Given the description of an element on the screen output the (x, y) to click on. 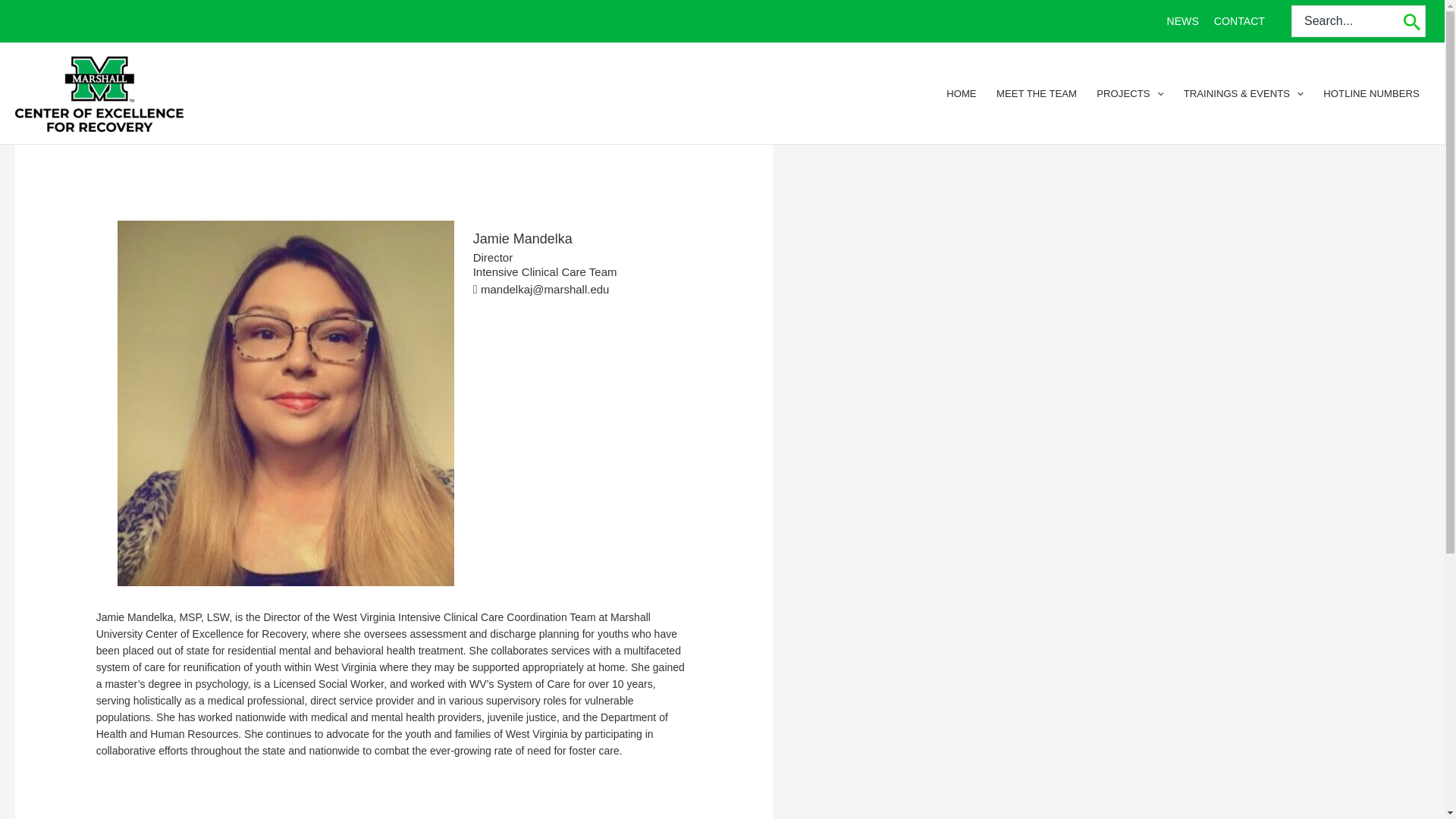
NEWS (1181, 21)
PROJECTS (1129, 93)
MEET THE TEAM (1036, 93)
CONTACT (1239, 21)
